Given the description of an element on the screen output the (x, y) to click on. 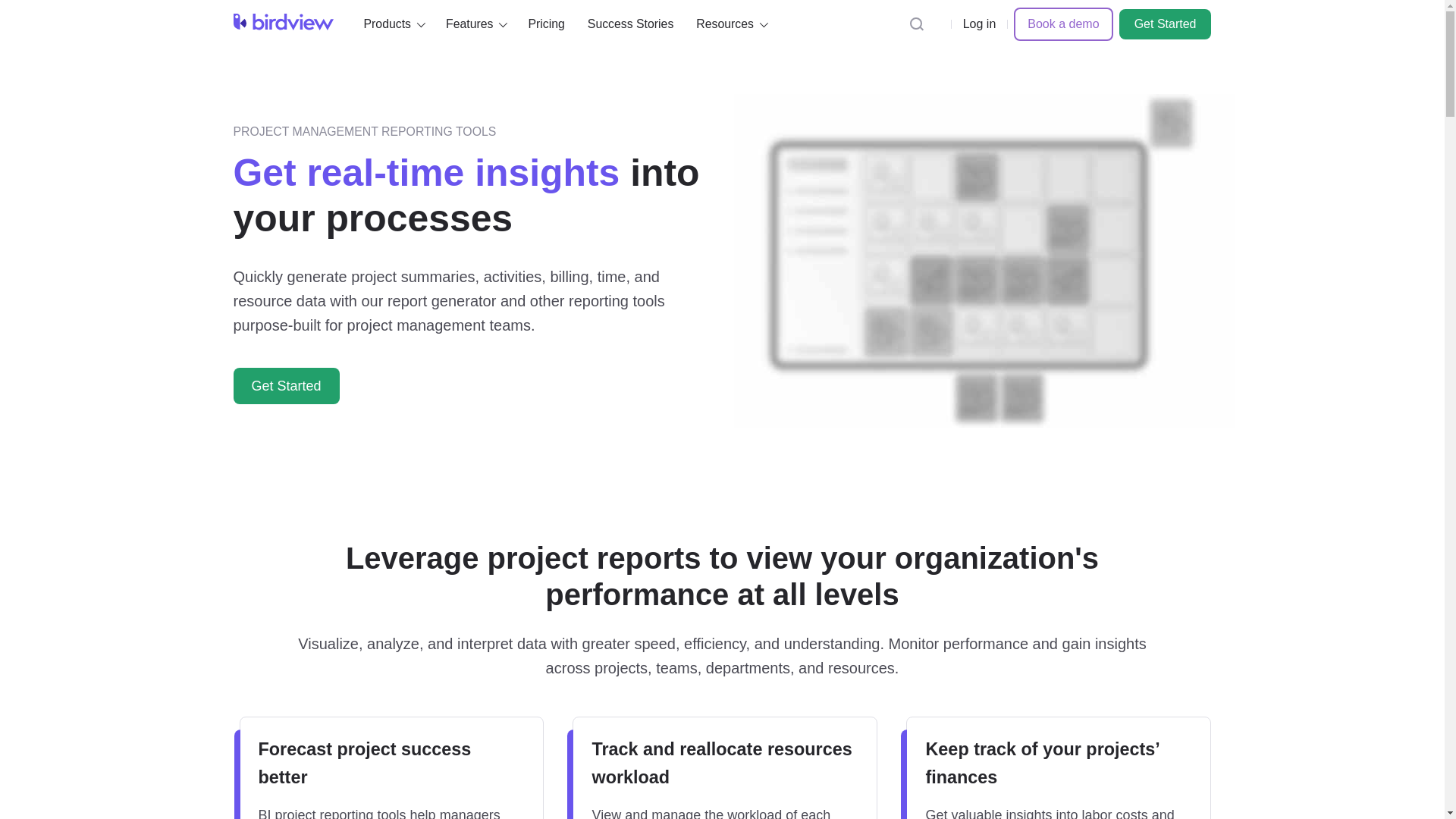
Features (475, 24)
Get Started (1165, 24)
Pricing (545, 24)
Get Started (285, 385)
Products (393, 24)
Log in (979, 24)
Book a demo (1062, 23)
Success Stories (630, 24)
Resources (730, 24)
